Given the description of an element on the screen output the (x, y) to click on. 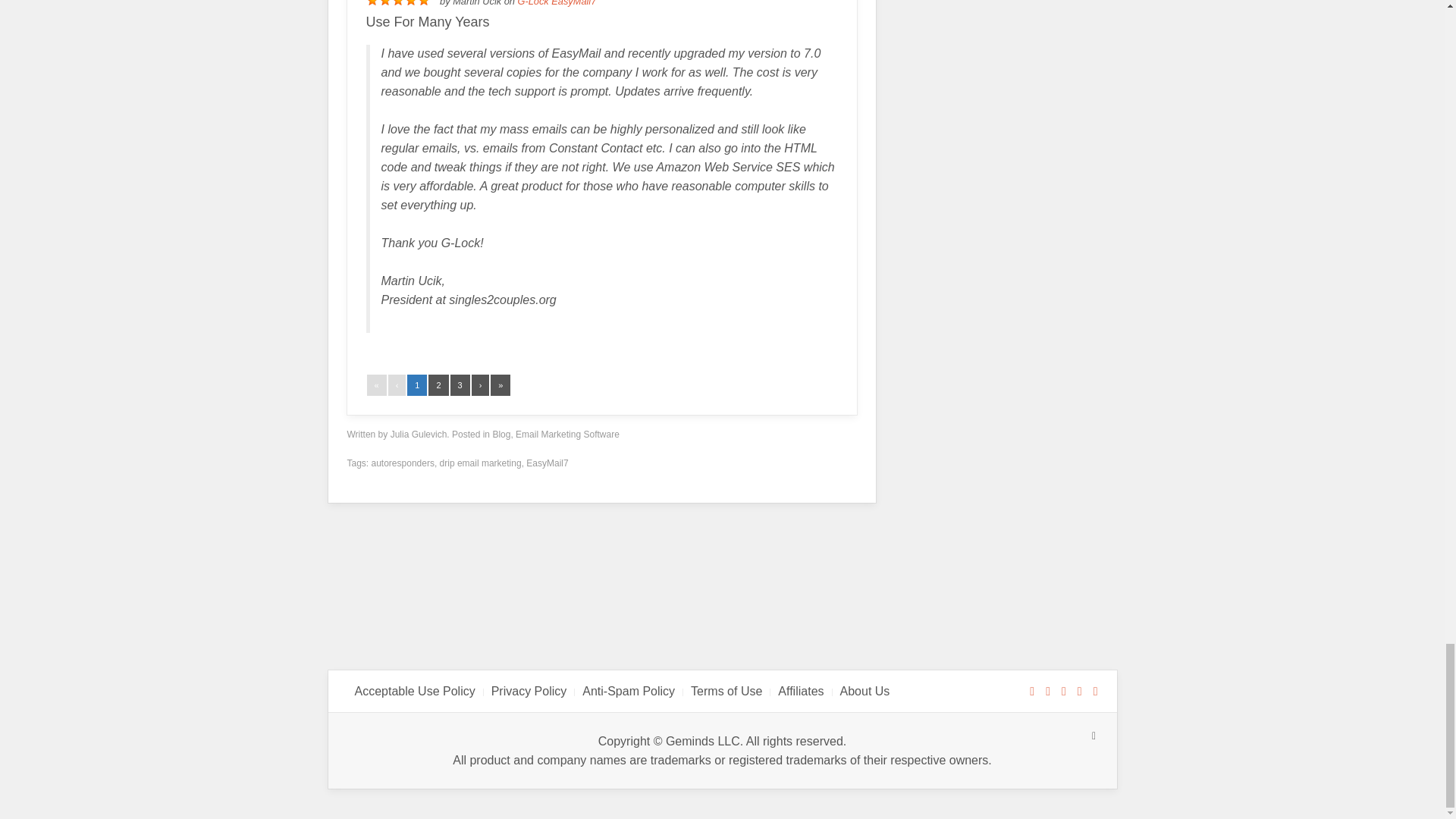
Julia Gulevich (418, 434)
Terms of Use (725, 691)
autoresponders (402, 462)
Privacy Policy (529, 691)
About Us (864, 691)
Julia Gulevich (418, 434)
EasyMail7 (546, 462)
G-Lock EasyMail7 (555, 3)
drip email marketing (480, 462)
Affiliates (800, 691)
